Given the description of an element on the screen output the (x, y) to click on. 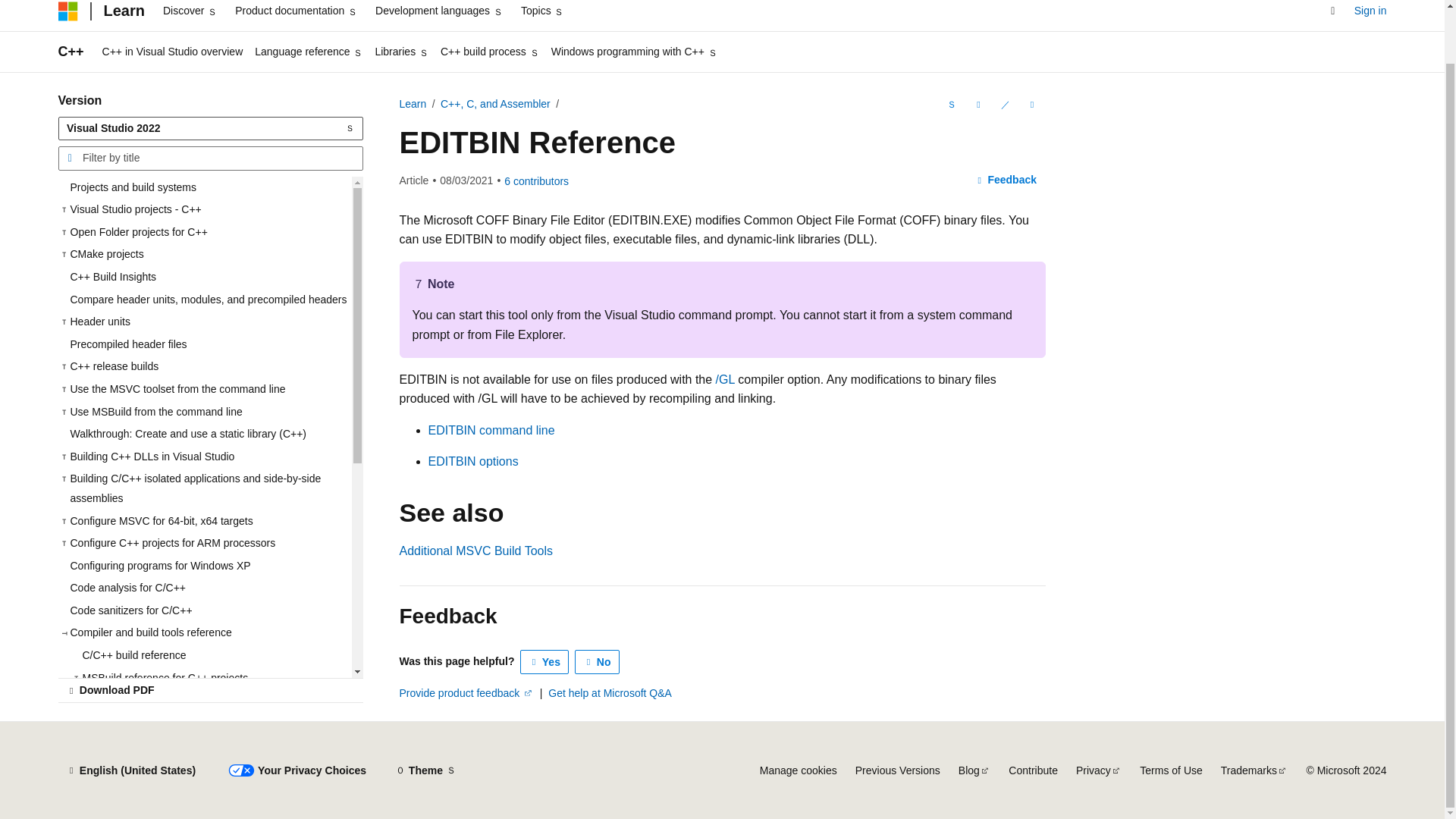
Product documentation (295, 15)
This article is helpful (544, 662)
Sign in (1370, 11)
This article is not helpful (597, 662)
Discover (189, 15)
Language reference (308, 51)
More actions (1031, 104)
Edit This Document (1004, 104)
Development languages (438, 15)
Theme (425, 770)
Learn (123, 12)
Topics (542, 15)
View all contributors (536, 181)
Libraries (400, 51)
Language (949, 104)
